Given the description of an element on the screen output the (x, y) to click on. 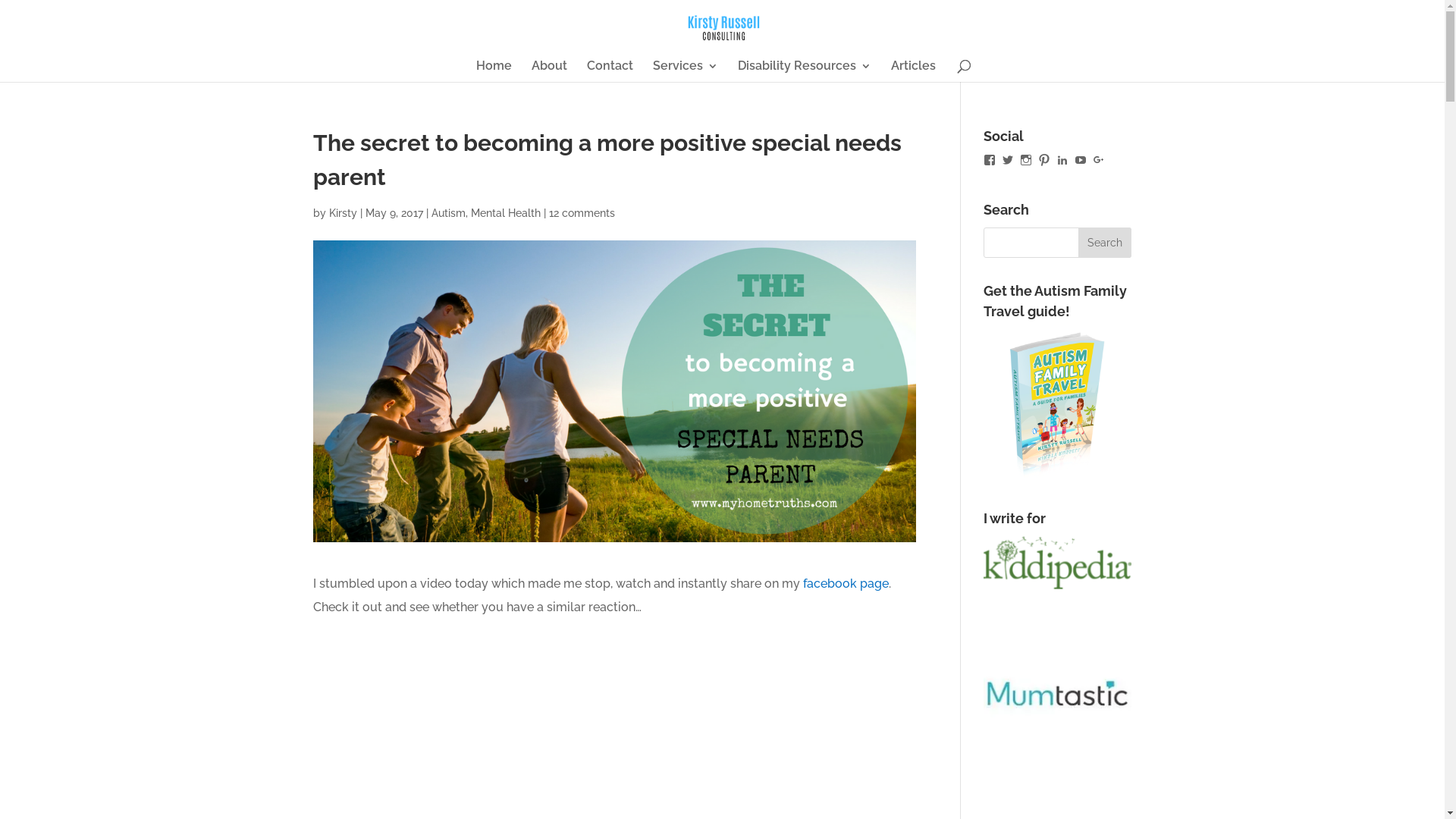
Google+ Element type: text (1098, 159)
Services Element type: text (684, 70)
Facebook Element type: text (989, 159)
Mental Health Element type: text (504, 213)
facebook page Element type: text (845, 583)
Autism Element type: text (447, 213)
LinkedIn Element type: text (1062, 159)
Disability Resources Element type: text (803, 70)
Articles Element type: text (912, 70)
Instagram Element type: text (1025, 159)
Pinterest Element type: text (1044, 159)
Search Element type: text (1104, 242)
Kirsty Element type: text (343, 213)
About Element type: text (548, 70)
YouTube Element type: text (1080, 159)
Contact Element type: text (609, 70)
12 comments Element type: text (582, 213)
Home Element type: text (493, 70)
Twitter Element type: text (1007, 159)
